Given the description of an element on the screen output the (x, y) to click on. 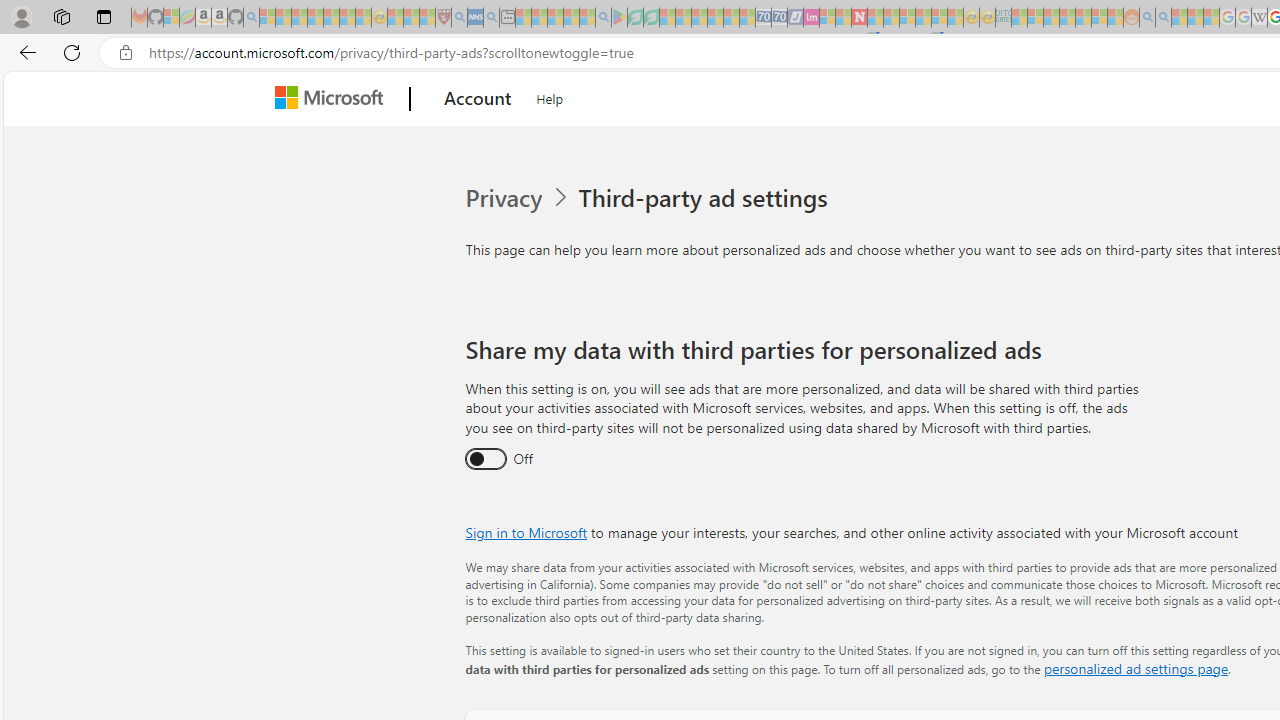
Target page - Wikipedia - Sleeping (1259, 17)
